Given the description of an element on the screen output the (x, y) to click on. 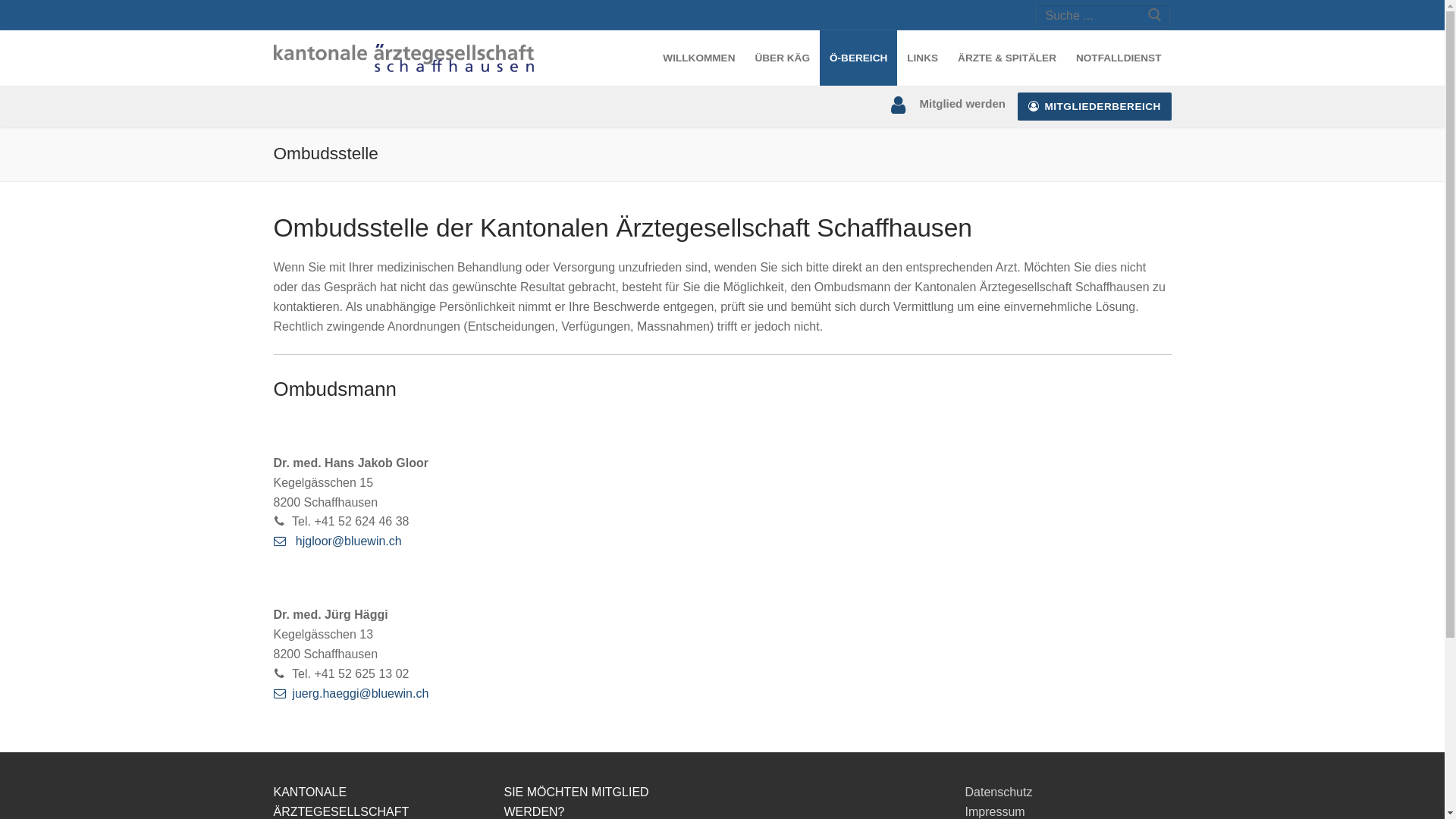
Suchen nach: Element type: hover (1102, 15)
WILLKOMMEN Element type: text (698, 57)
  juerg.haeggi@bluewin.ch Element type: text (350, 693)
Impressum Element type: text (994, 811)
MITGLIEDERBEREICH Element type: text (1094, 106)
Datenschutz Element type: text (998, 791)
Mitglied werden Element type: text (946, 104)
NOTFALLDIENST Element type: text (1118, 57)
LINKS Element type: text (922, 57)
   hjgloor@bluewin.ch Element type: text (337, 540)
